Given the description of an element on the screen output the (x, y) to click on. 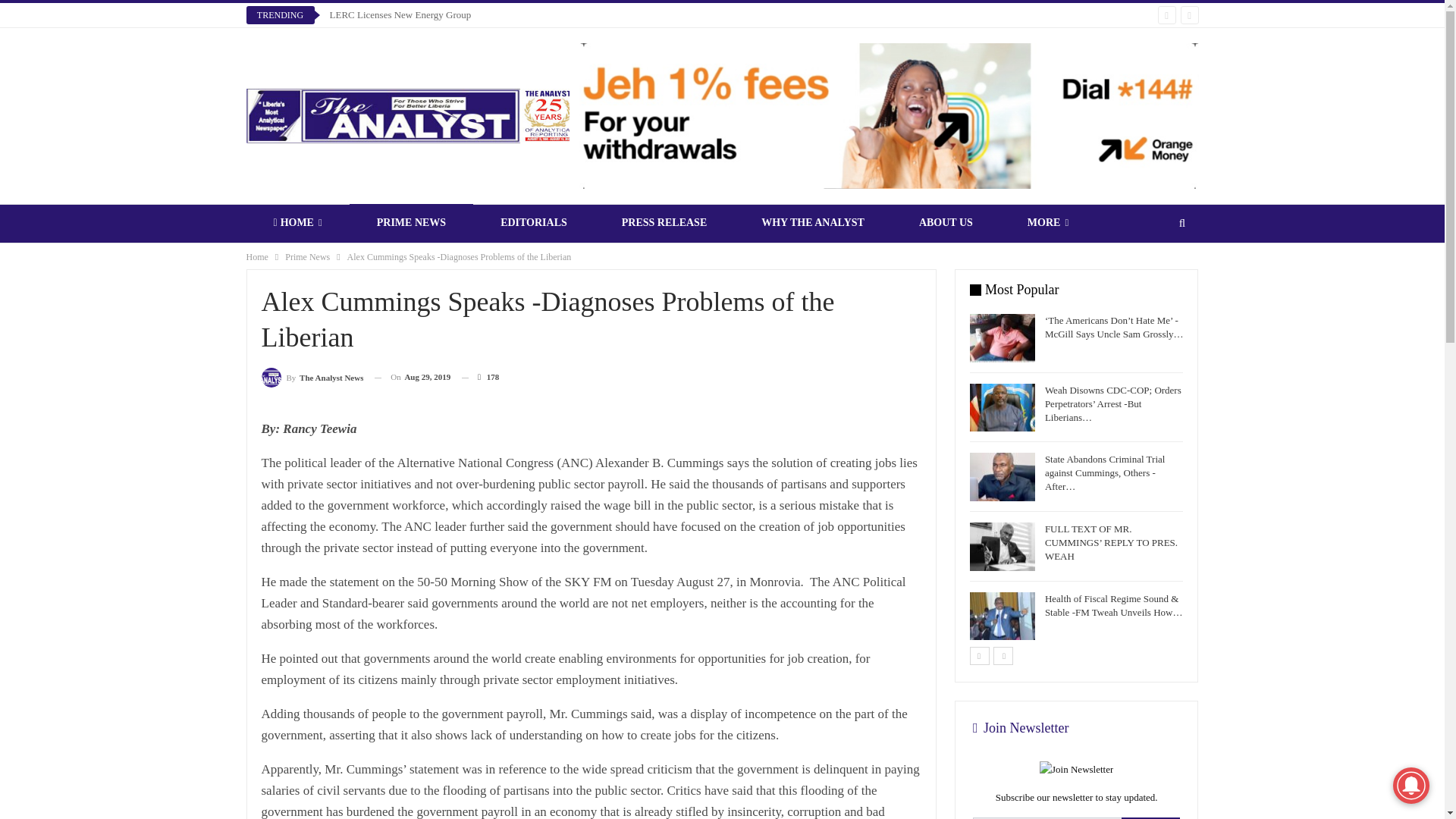
Home (256, 256)
Browse Author Articles (311, 376)
PRESS RELEASE (663, 222)
Prime News (307, 256)
LERC Licenses New Energy Group (399, 14)
ABOUT US (945, 222)
PRIME NEWS (411, 222)
EDITORIALS (533, 222)
MORE (1048, 222)
By The Analyst News (311, 376)
HOME (297, 222)
WHY THE ANALYST (812, 222)
